Given the description of an element on the screen output the (x, y) to click on. 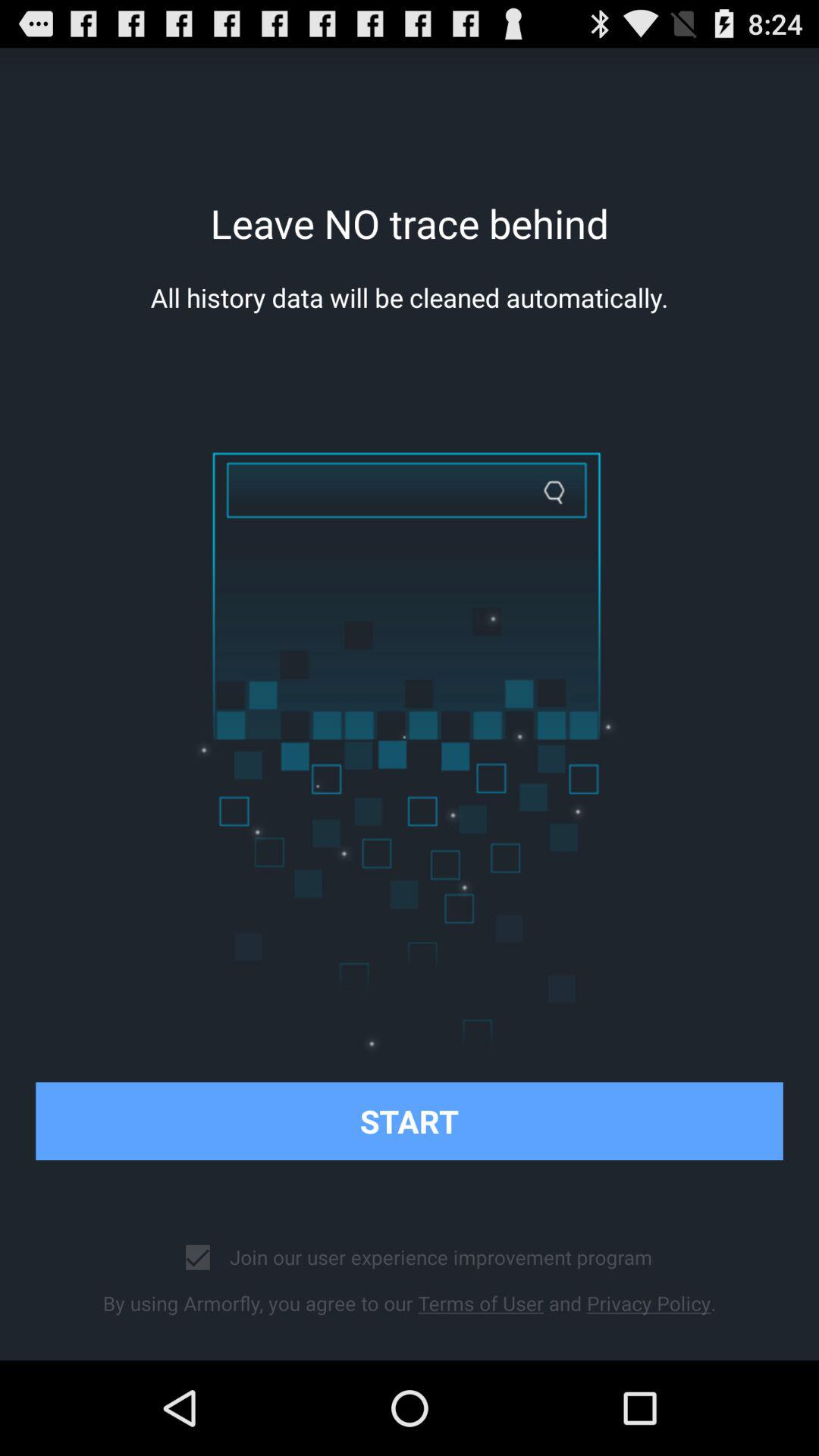
swipe to by using armorfly app (409, 1302)
